Given the description of an element on the screen output the (x, y) to click on. 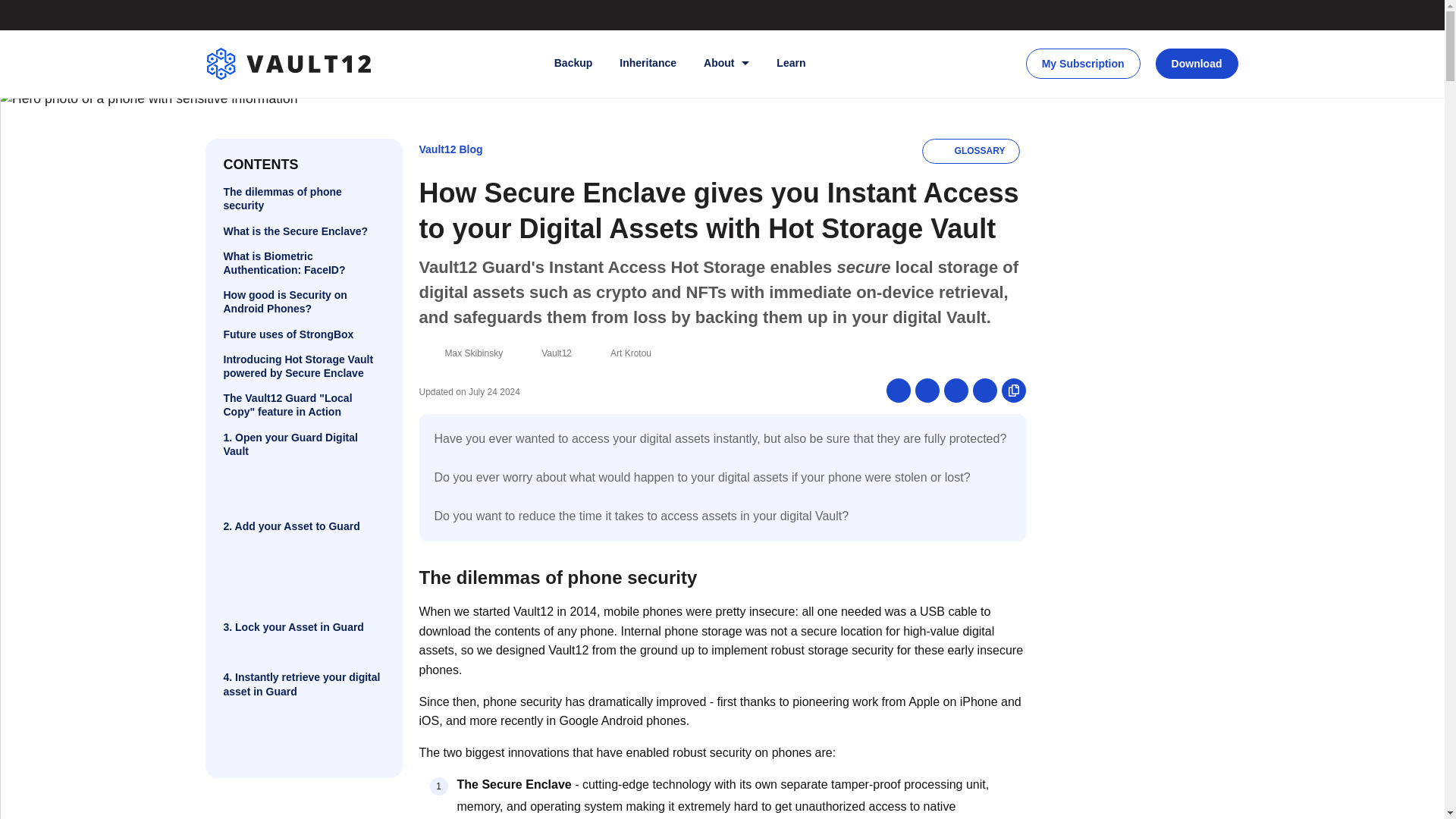
What is the Secure Enclave? (303, 231)
Backup (573, 63)
Learn (790, 63)
Introducing Hot Storage Vault powered by Secure Enclave (303, 366)
Download (1197, 63)
My Subscription (1083, 63)
sdecoret (1208, 88)
1. Open your Guard Digital Vault (303, 443)
How good is Security on Android Phones? (303, 301)
Inheritance (647, 63)
The dilemmas of phone security (303, 198)
Copy this link to clipboard (1013, 390)
Future uses of StrongBox (303, 334)
